Given the description of an element on the screen output the (x, y) to click on. 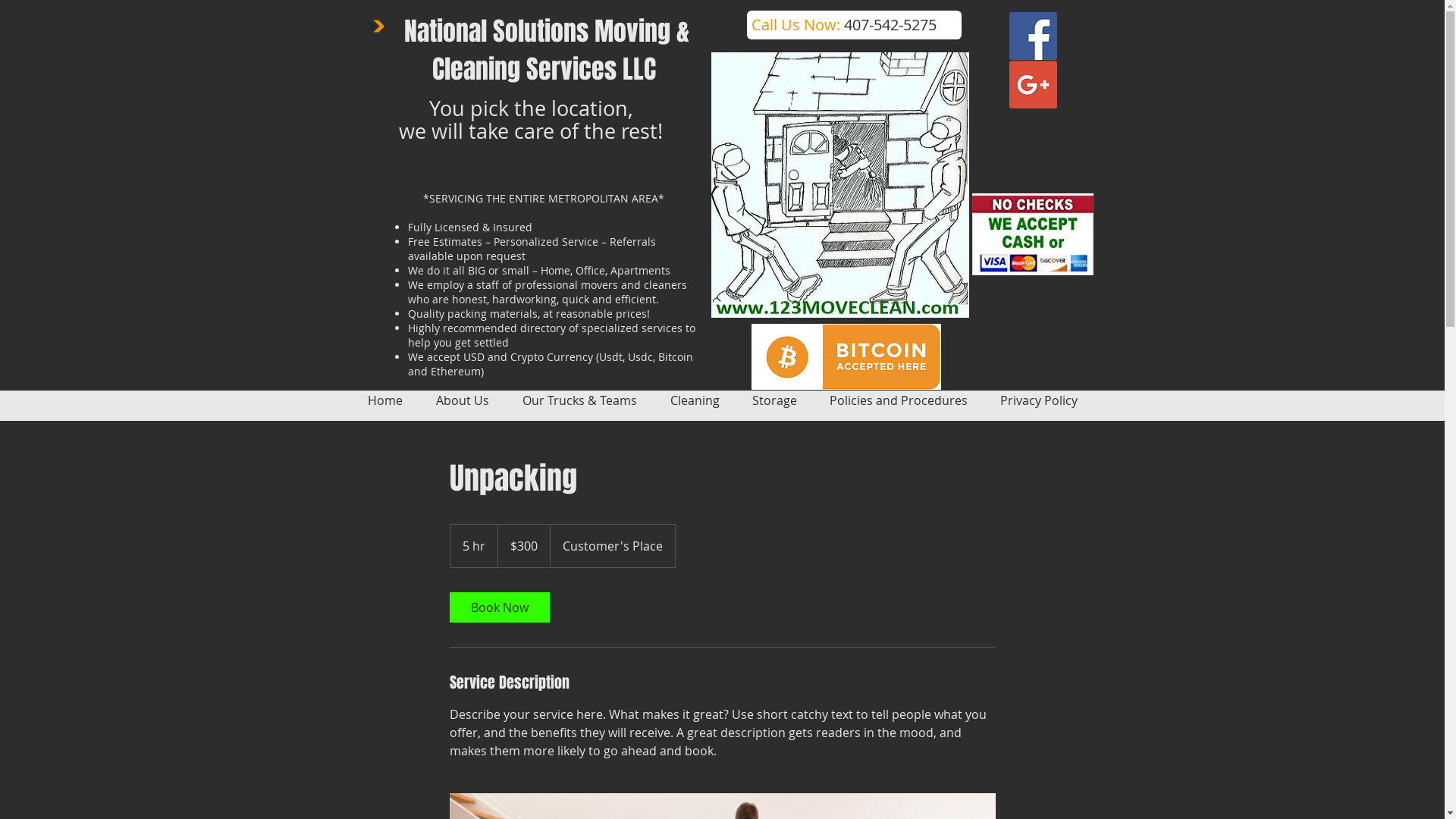
Cleaning Element type: text (694, 400)
National Solutions Moving & Cleaning Services LLC  Element type: text (546, 49)
Policies and Procedures Element type: text (897, 400)
Our Trucks & Teams Element type: text (578, 400)
bitcoin.png Element type: hover (845, 356)
Book Now Element type: text (498, 607)
Storage Element type: text (773, 400)
Home Element type: text (384, 400)
About Us Element type: text (461, 400)
Privacy Policy Element type: text (1039, 400)
